Given the description of an element on the screen output the (x, y) to click on. 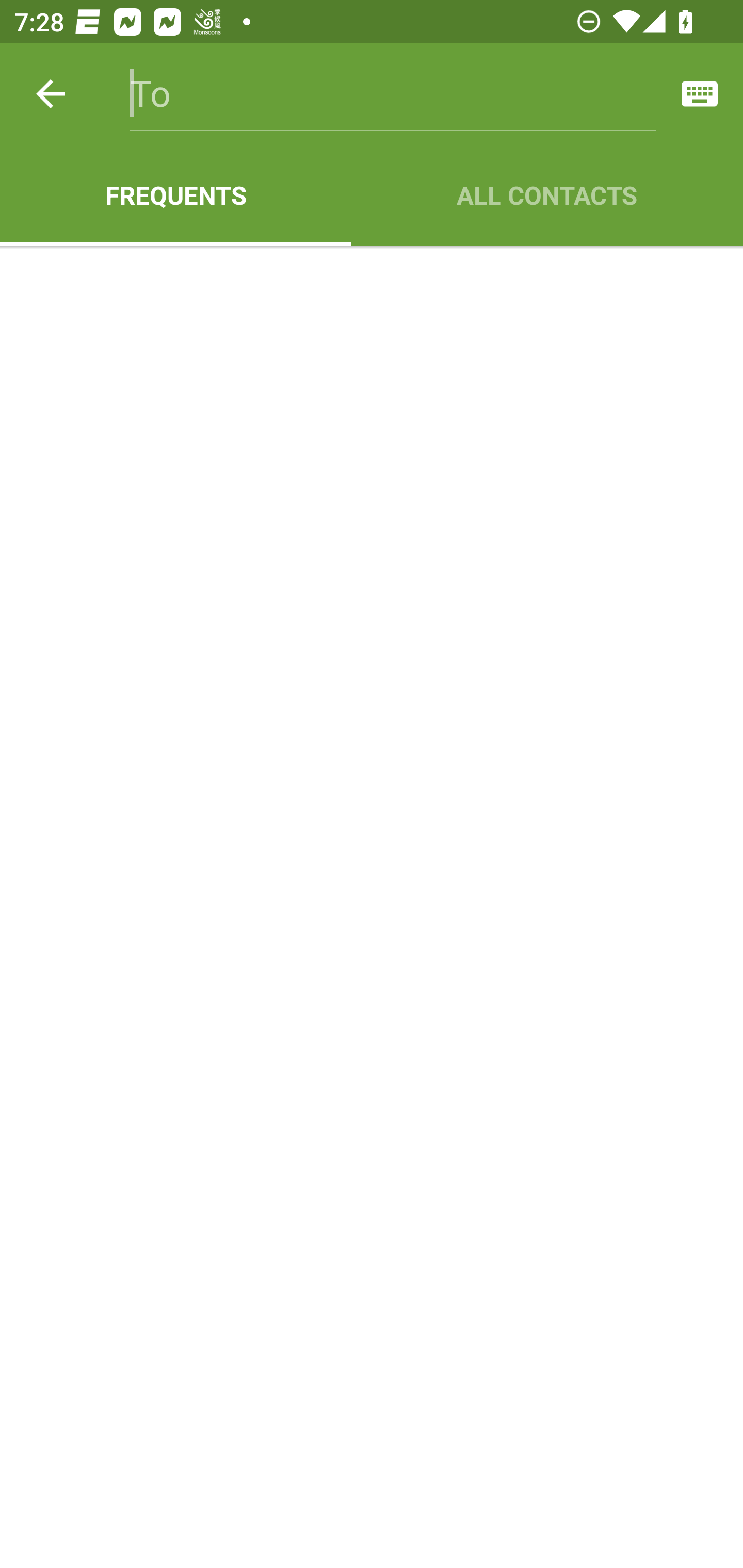
Back (50, 93)
Switch between entering text and numbers (699, 93)
To (393, 93)
FREQUENTS (175, 195)
ALL CONTACTS (547, 195)
